Given the description of an element on the screen output the (x, y) to click on. 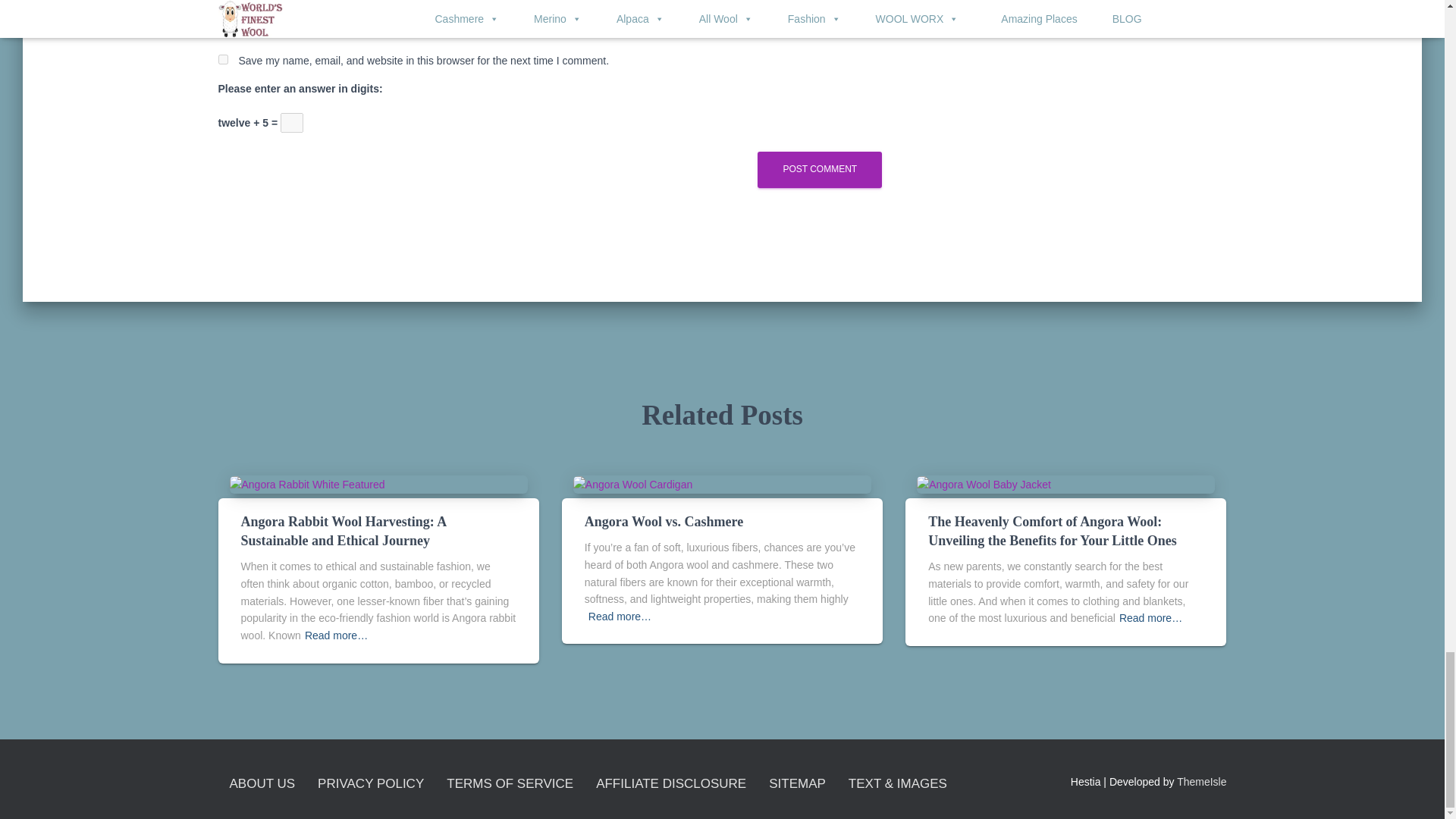
Angora Wool vs. Cashmere (663, 521)
Post Comment (819, 169)
Angora Wool vs. Cashmere (633, 483)
yes (223, 59)
